Given the description of an element on the screen output the (x, y) to click on. 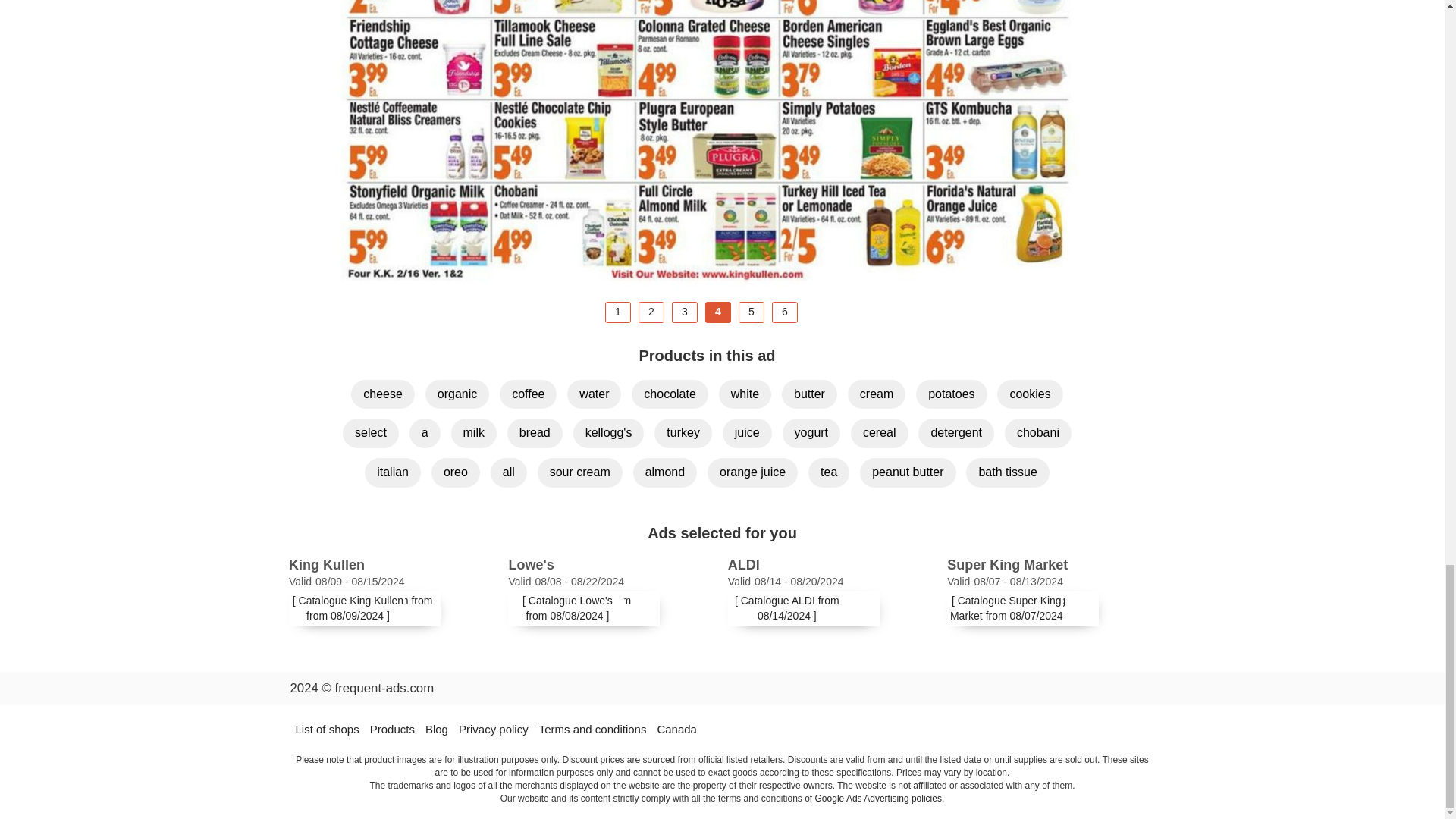
select (370, 432)
1 (617, 312)
chobani (1037, 432)
chocolate (669, 394)
coffee (527, 394)
6 (784, 312)
cereal (879, 432)
5 (751, 312)
cheese (382, 394)
italian (392, 472)
